Given the description of an element on the screen output the (x, y) to click on. 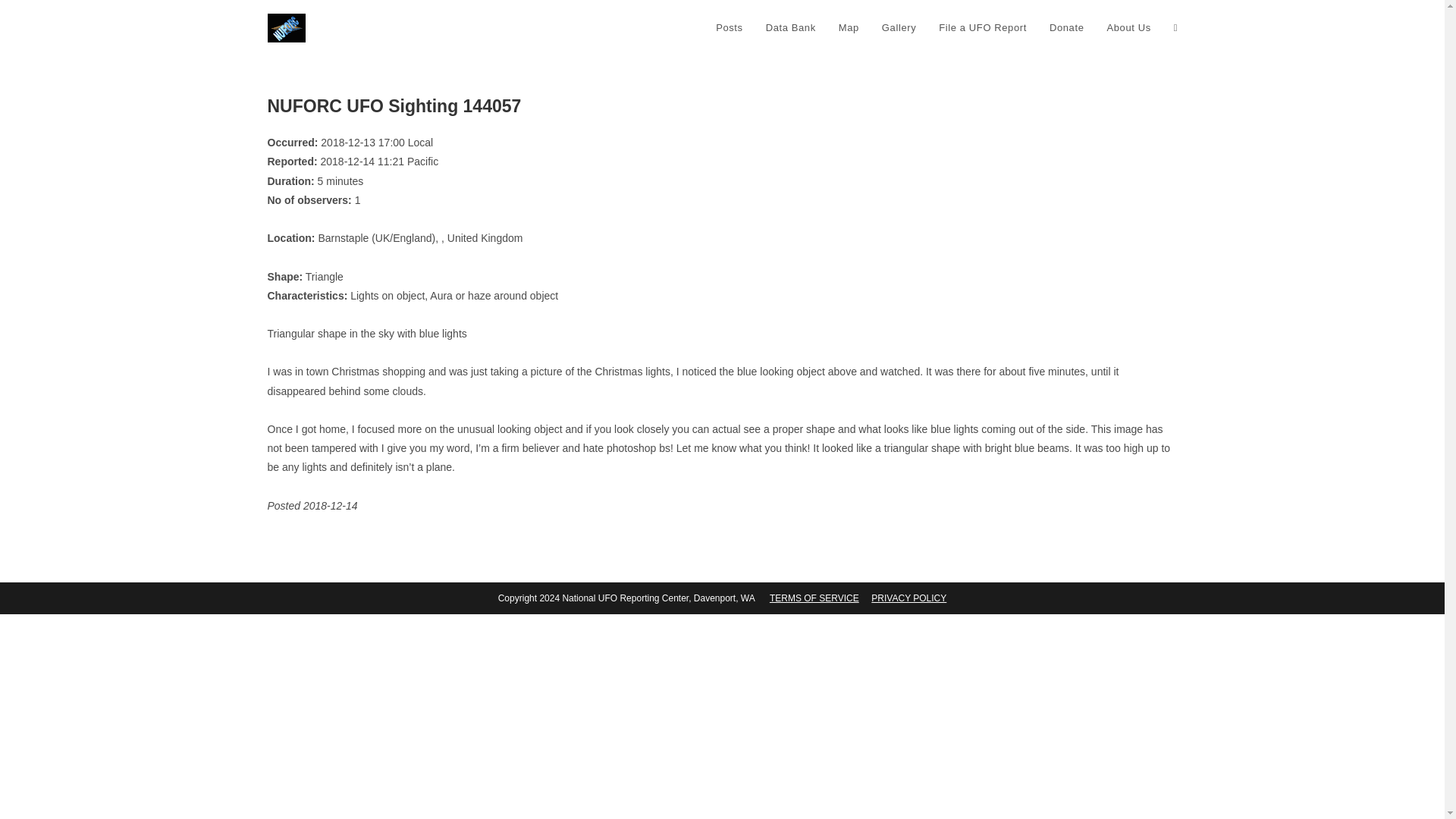
Posts (729, 28)
PRIVACY POLICY (908, 597)
Map (848, 28)
About Us (1127, 28)
File a UFO Report (982, 28)
Donate (1067, 28)
Toggle website search (1175, 28)
Data Bank (790, 28)
TERMS OF SERVICE (814, 597)
Gallery (898, 28)
